Given the description of an element on the screen output the (x, y) to click on. 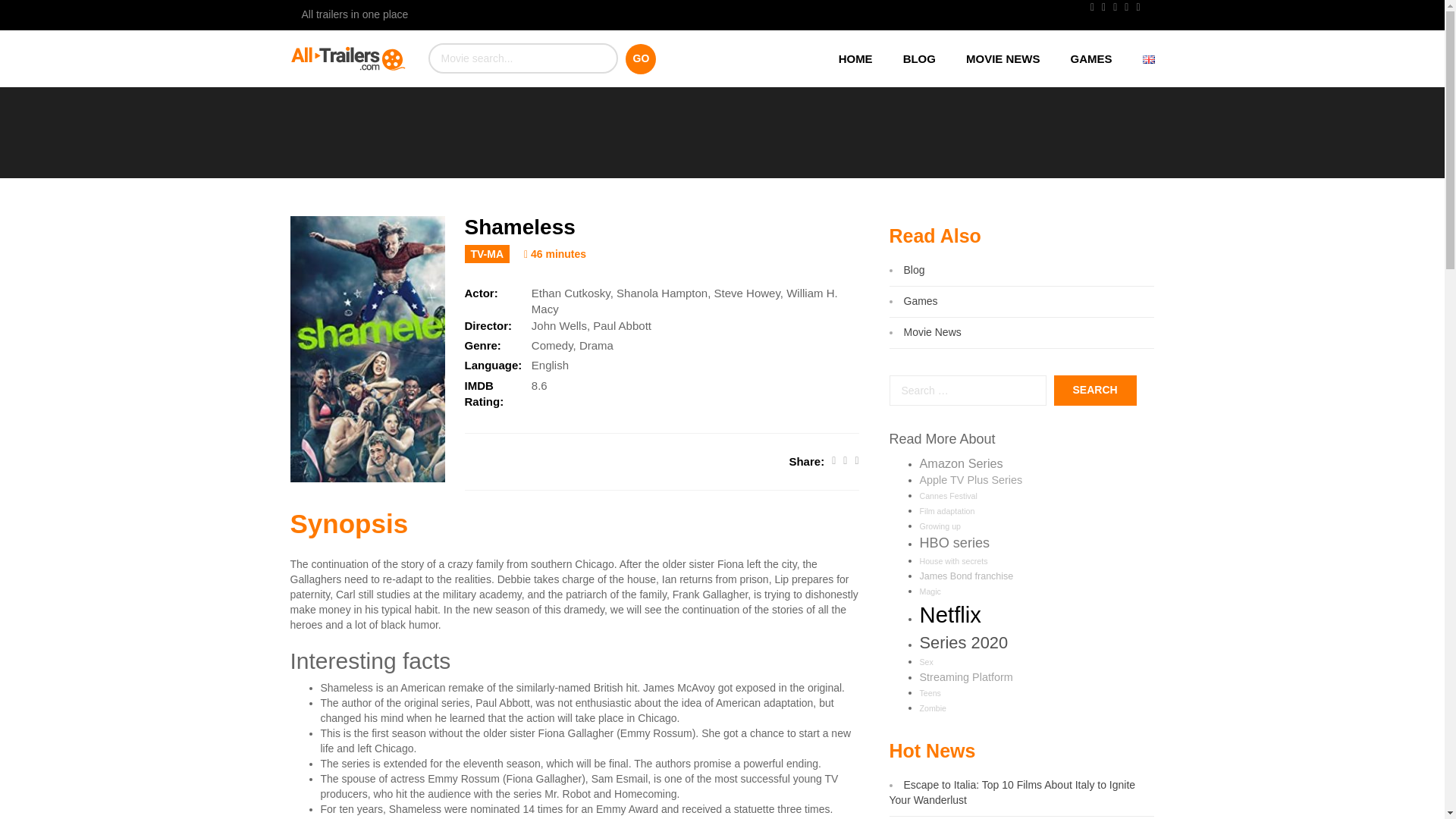
GAMES (1090, 58)
Paul Abbott (621, 325)
18 topics (960, 463)
2 topics (925, 661)
5 topics (929, 591)
5 topics (946, 510)
Ethan Cutkosky (570, 292)
1 topics (932, 707)
BLOG (919, 58)
John Wells (558, 325)
